Given the description of an element on the screen output the (x, y) to click on. 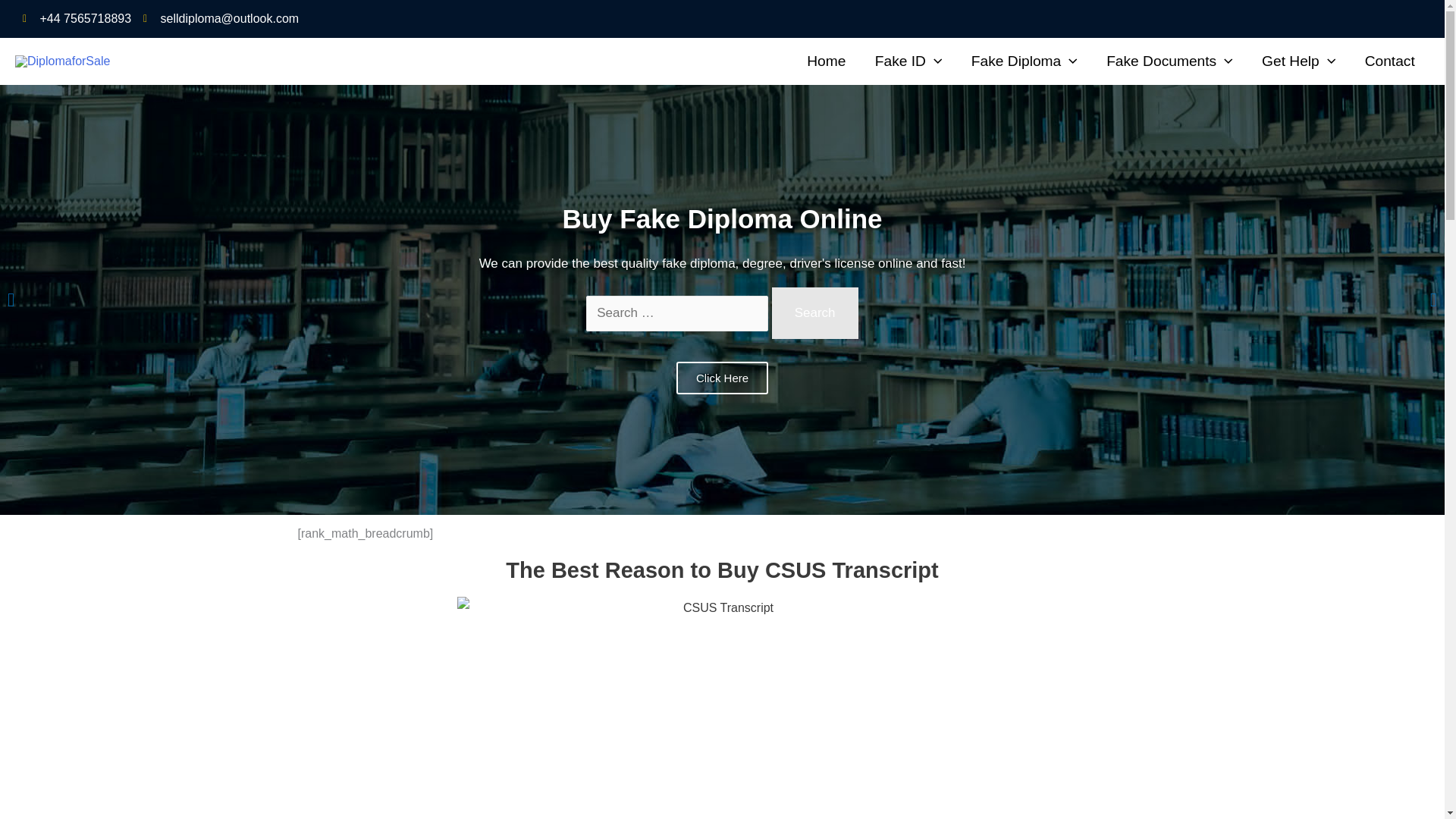
Search (815, 313)
Contact (1389, 60)
Search (815, 313)
Home (826, 60)
CSUS Transcript (722, 708)
Get Help (1299, 60)
Fake ID (908, 60)
Fake Documents (1169, 60)
Fake Diploma (1024, 60)
